Given the description of an element on the screen output the (x, y) to click on. 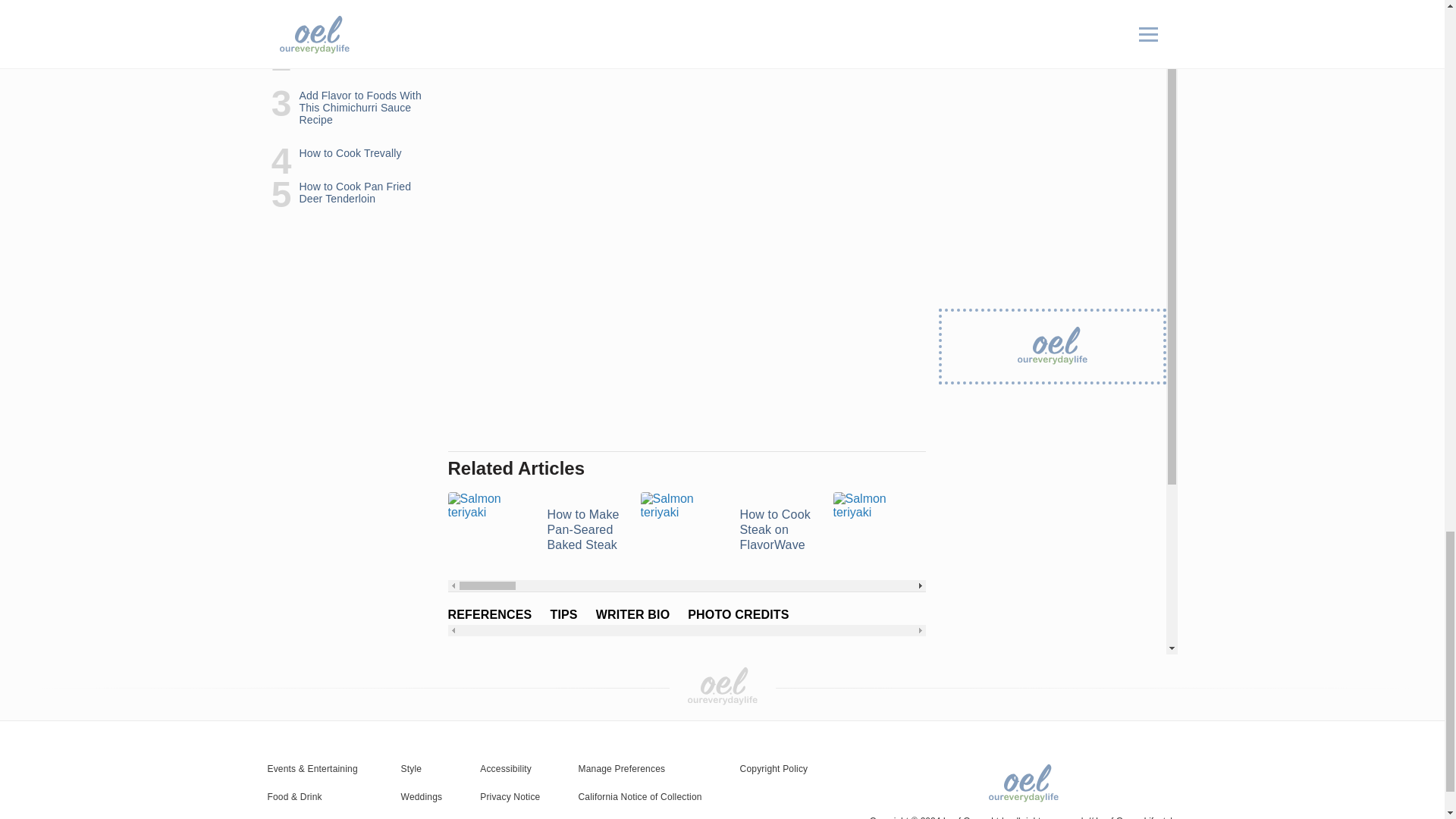
How to Cook Trevally (1112, 530)
Add Flavor to Foods With This ... (919, 530)
How to Make Pan-Seared Baked Steak (533, 530)
How to Cook Pan Fried Deer Tenderloin (1304, 530)
How to Cook Steak on FlavorWave (726, 530)
